Given the description of an element on the screen output the (x, y) to click on. 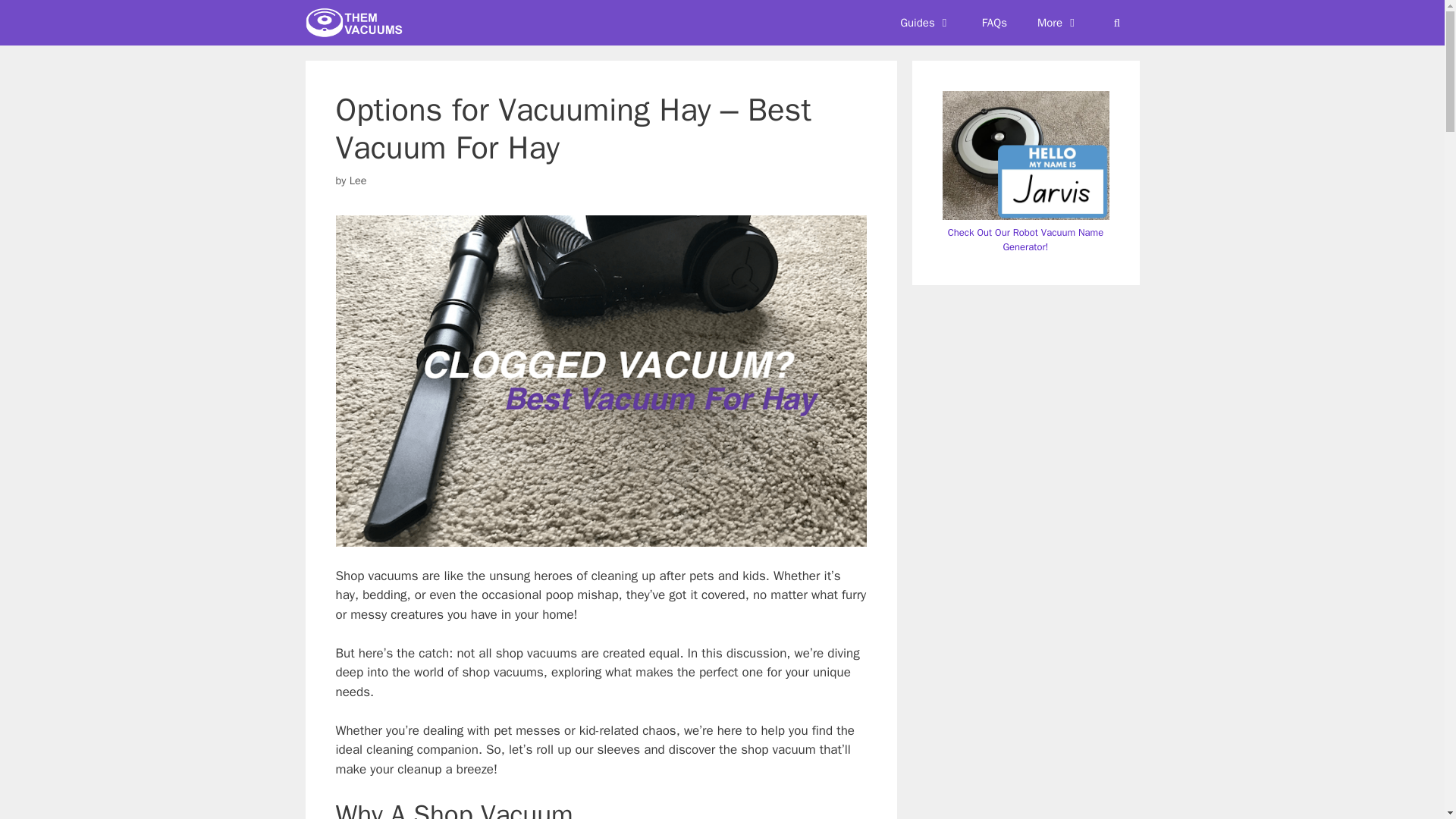
FAQs (994, 22)
Them Vacuums (353, 22)
View all posts by Lee (357, 180)
Them Vacuums (357, 22)
Check Out Our Robot Vacuum Name Generator! (1025, 239)
Guides (925, 22)
More (1058, 22)
Lee (357, 180)
